Given the description of an element on the screen output the (x, y) to click on. 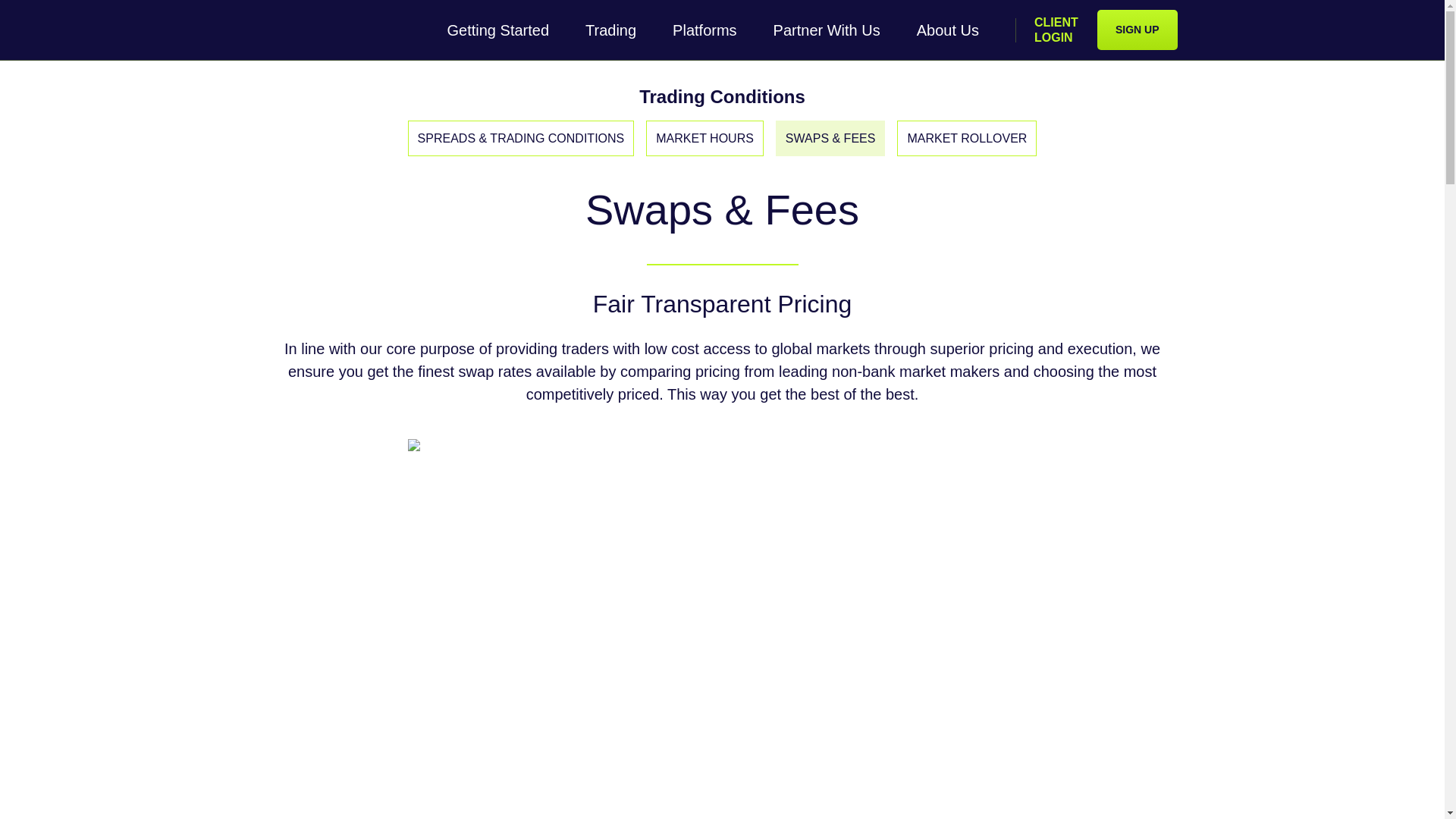
CLIENT LOGIN (1055, 29)
SIGN UP (1137, 29)
MARKET ROLLOVER (966, 138)
MARKET HOURS (704, 138)
